Given the description of an element on the screen output the (x, y) to click on. 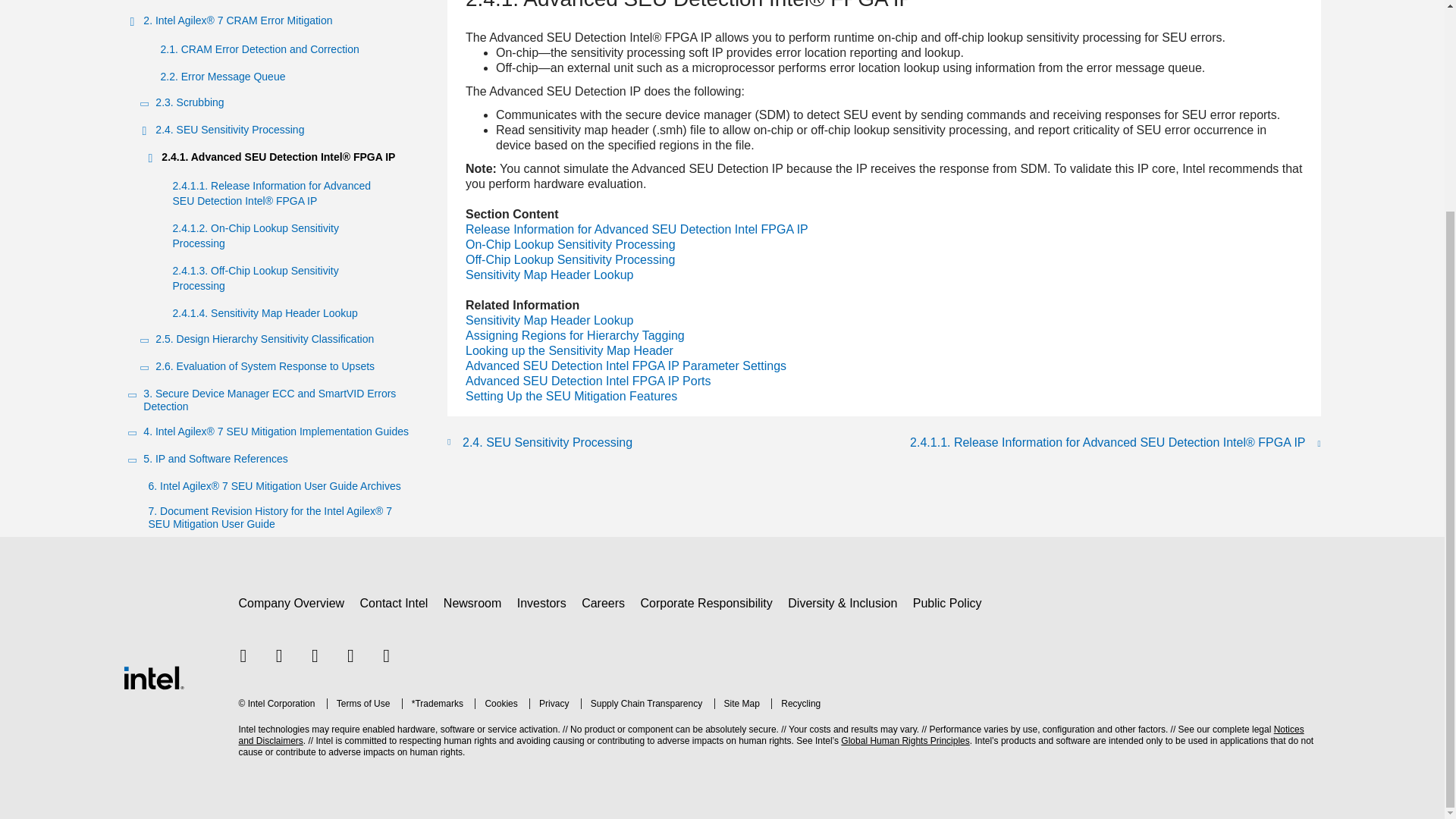
Intel Footer Logo (152, 676)
